Given the description of an element on the screen output the (x, y) to click on. 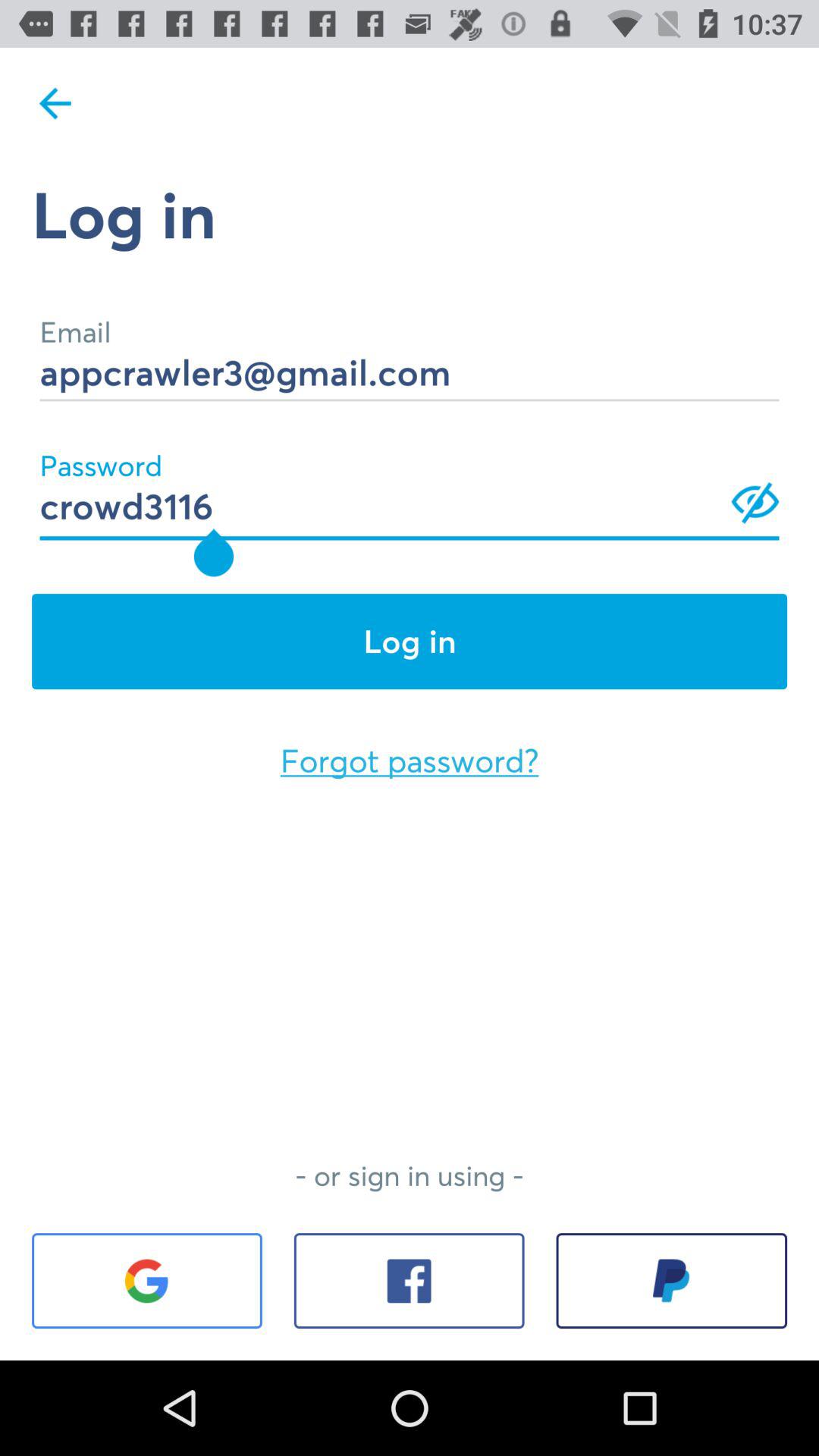
tap item above log in item (55, 103)
